Given the description of an element on the screen output the (x, y) to click on. 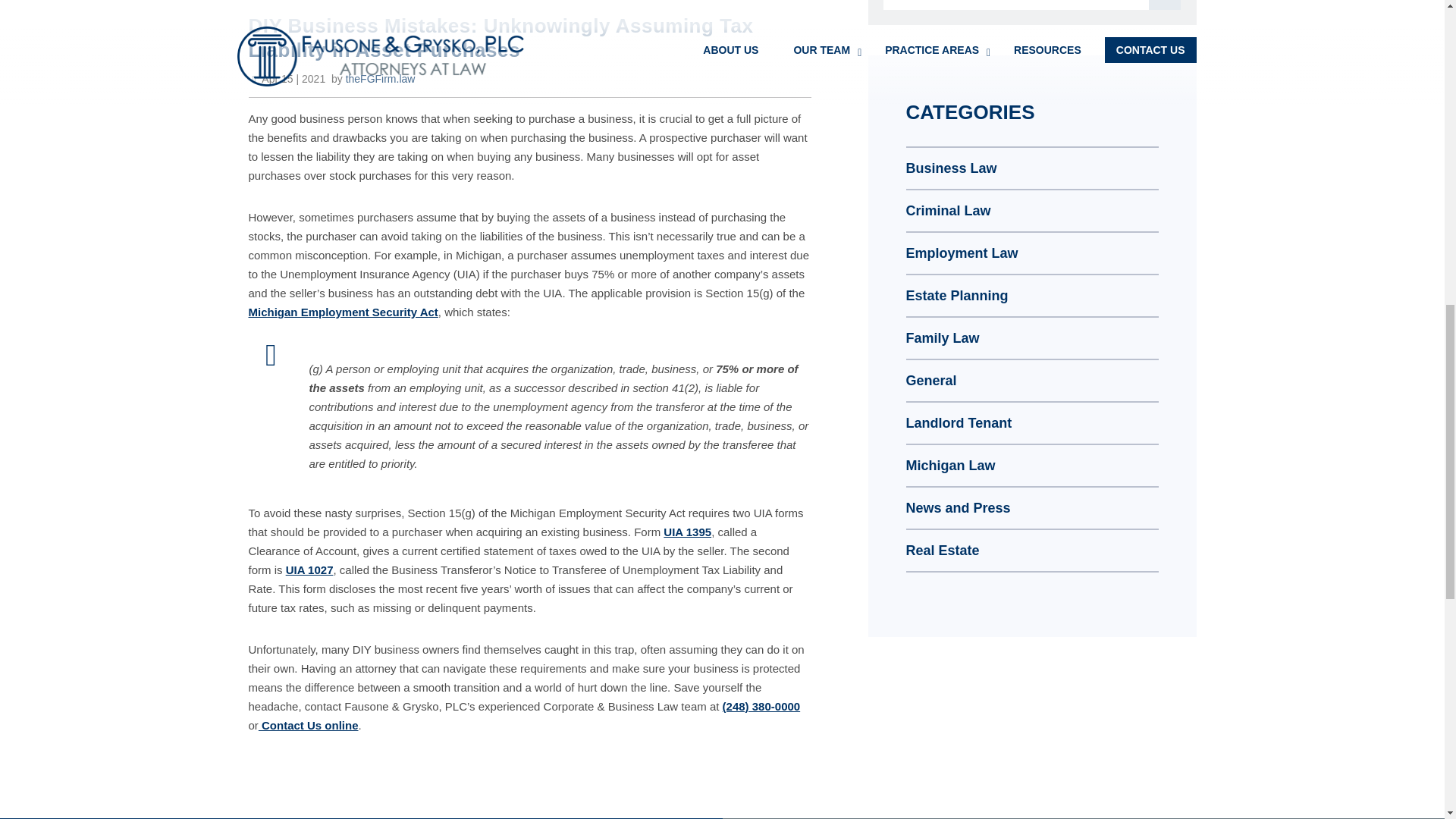
Posts by theFGFirm.law (380, 78)
